Given the description of an element on the screen output the (x, y) to click on. 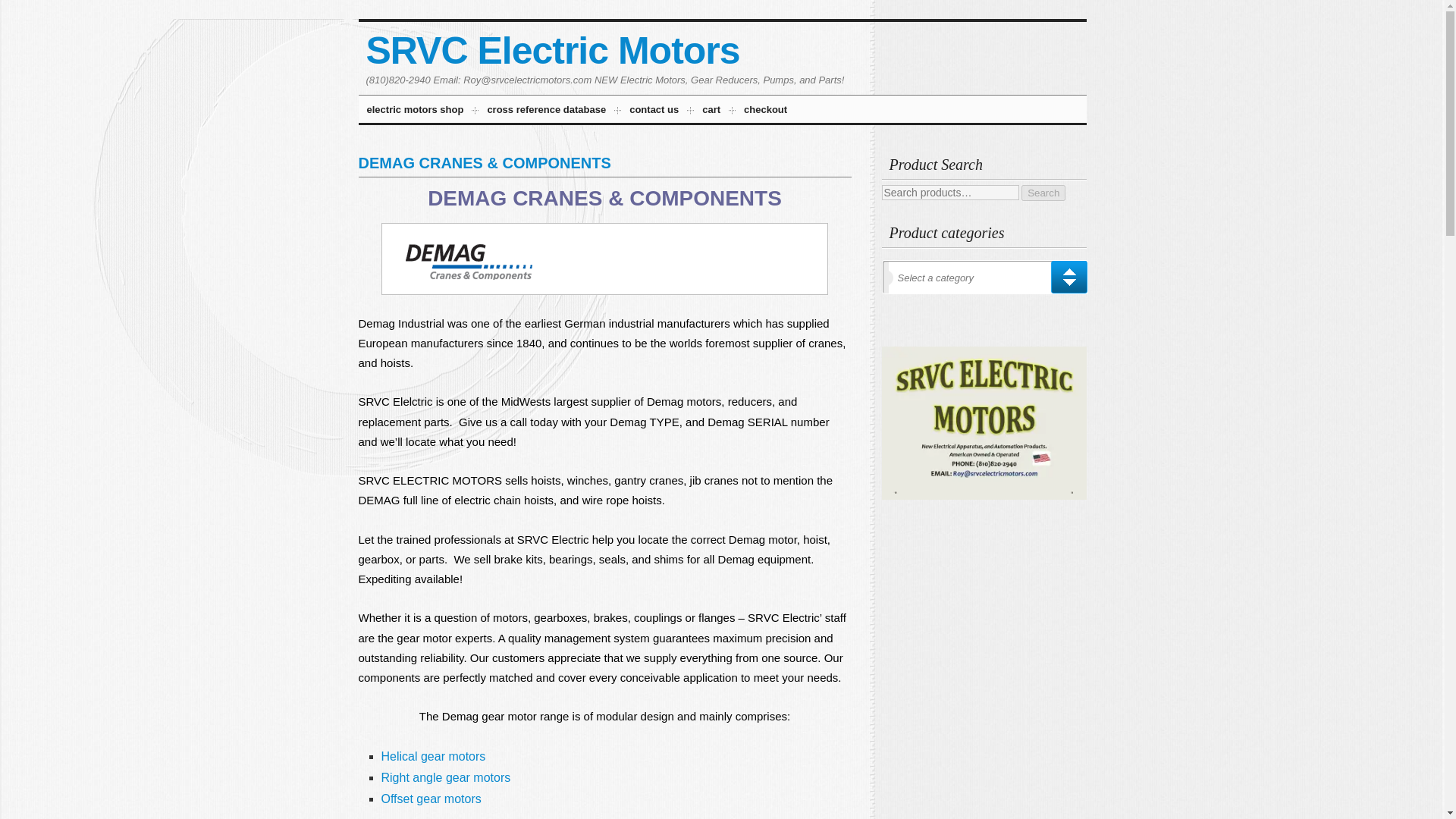
cross reference database (545, 111)
Search (1043, 192)
Right angle gear motors (445, 776)
Helical gear motors (432, 755)
Right angle gear motors (445, 776)
contact us (653, 111)
Select a category (988, 281)
SRVC Electric Motors (552, 50)
Offset gear motors (430, 797)
checkout (765, 111)
